Given the description of an element on the screen output the (x, y) to click on. 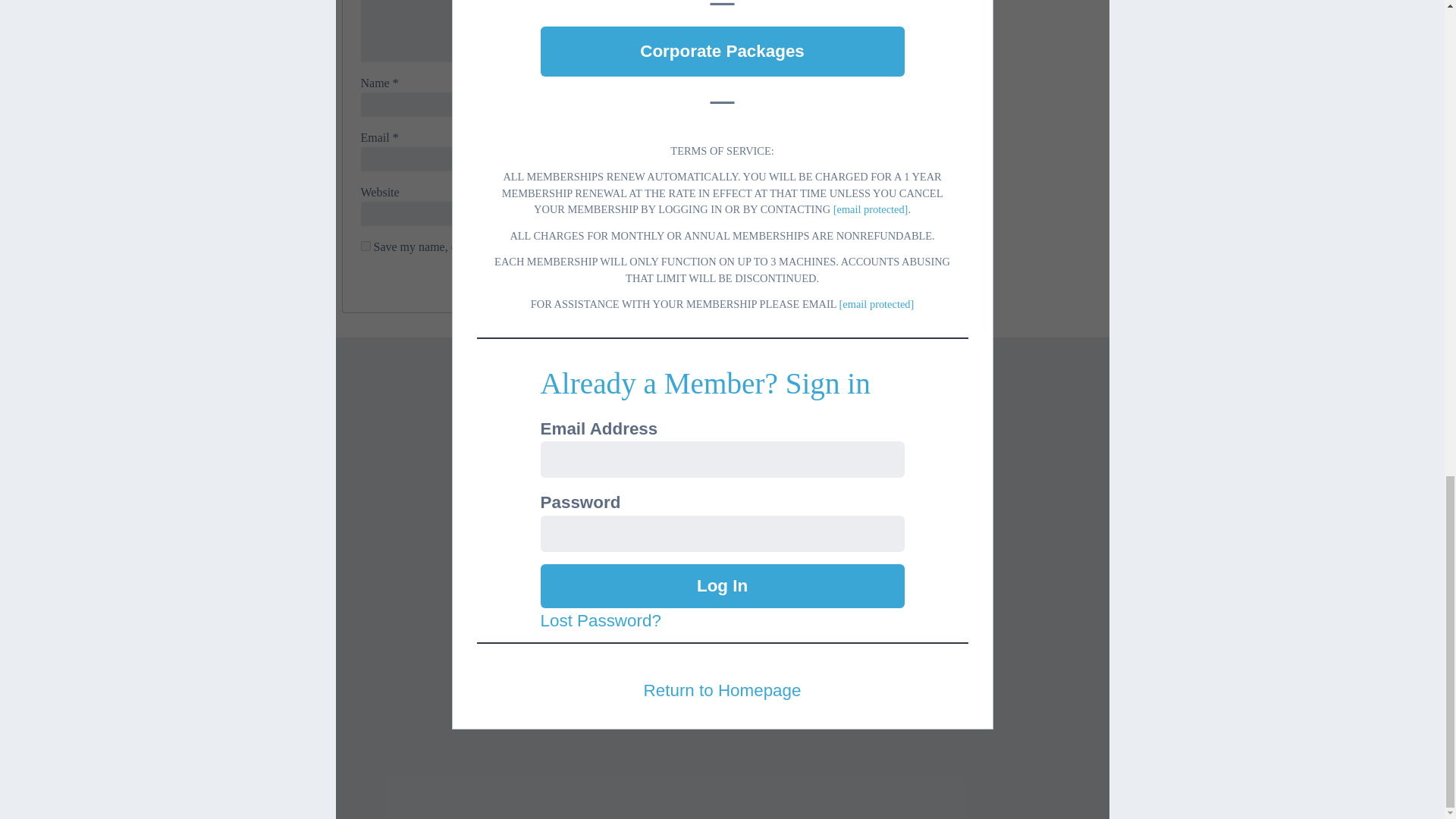
Log In (722, 586)
Post Comment (791, 281)
yes (366, 245)
